Given the description of an element on the screen output the (x, y) to click on. 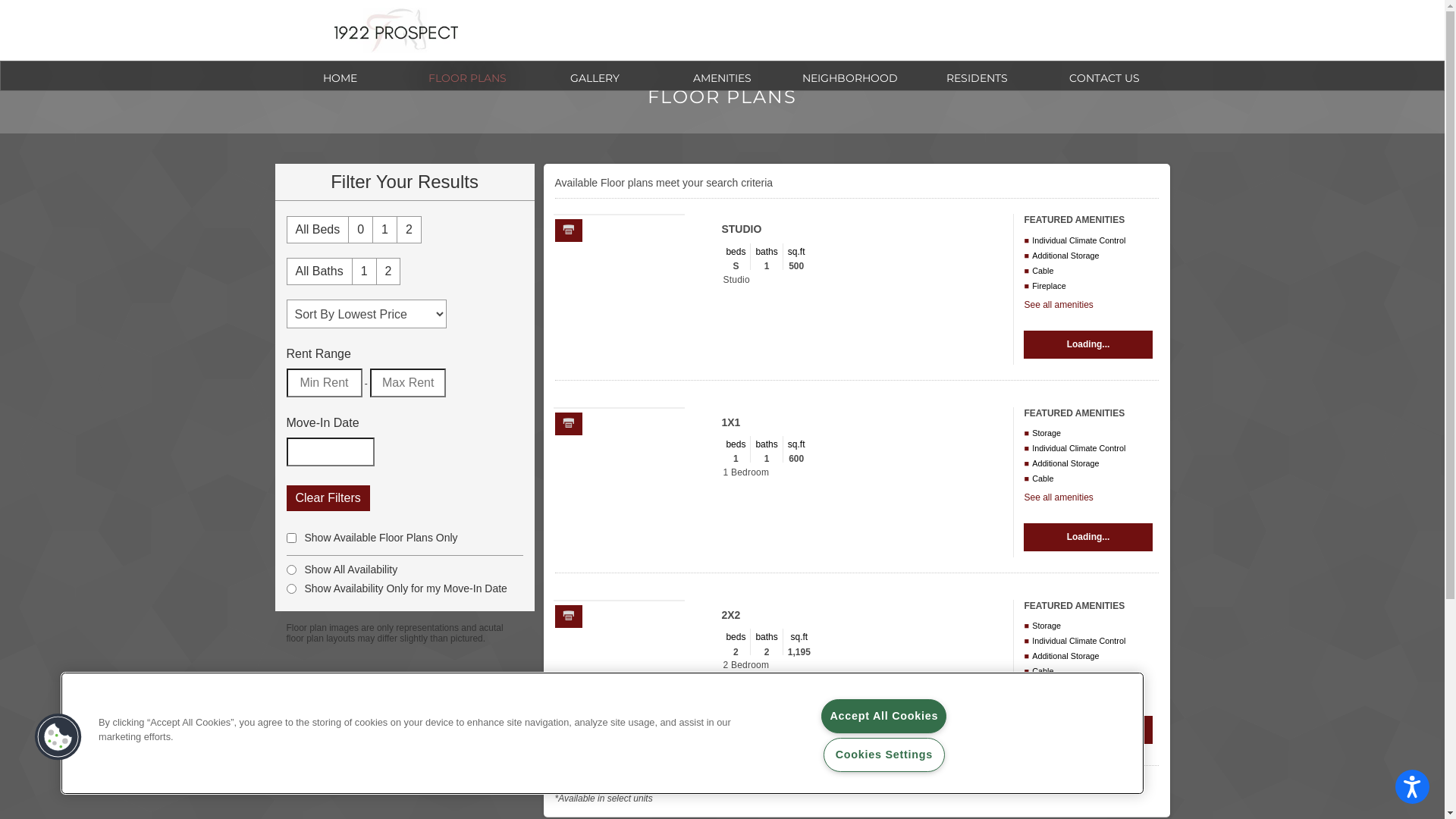
CONTACT US Element type: text (1103, 75)
View Brochure Element type: hover (568, 616)
See all amenities Element type: text (1057, 497)
See all amenities Element type: text (1057, 689)
RESIDENTS Element type: text (976, 75)
Accept All Cookies Element type: text (883, 716)
See all amenities Element type: text (1057, 304)
All Beds Element type: text (317, 229)
AMENITIES Element type: text (721, 75)
View Brochure Element type: hover (568, 230)
View Brochure Element type: hover (568, 423)
1 Element type: text (364, 271)
GALLERY Element type: text (594, 75)
2 Element type: text (388, 271)
HOME Element type: text (339, 75)
Loading... Element type: text (1087, 344)
FLOOR PLANS Element type: text (466, 75)
NEIGHBORHOOD Element type: text (849, 75)
(253) 627-1155 Element type: text (914, 35)
All Baths Element type: text (318, 271)
Loading... Element type: text (1087, 537)
Cookies Settings Element type: text (883, 754)
RESIDENT LOGIN Element type: text (1048, 34)
Cookies Button Element type: text (58, 736)
Loading... Element type: text (1087, 729)
1922 Prospect Apartments Element type: hover (395, 30)
Clear Filters Element type: text (328, 498)
1 Element type: text (384, 229)
0 Element type: text (360, 229)
2 Element type: text (408, 229)
